Given the description of an element on the screen output the (x, y) to click on. 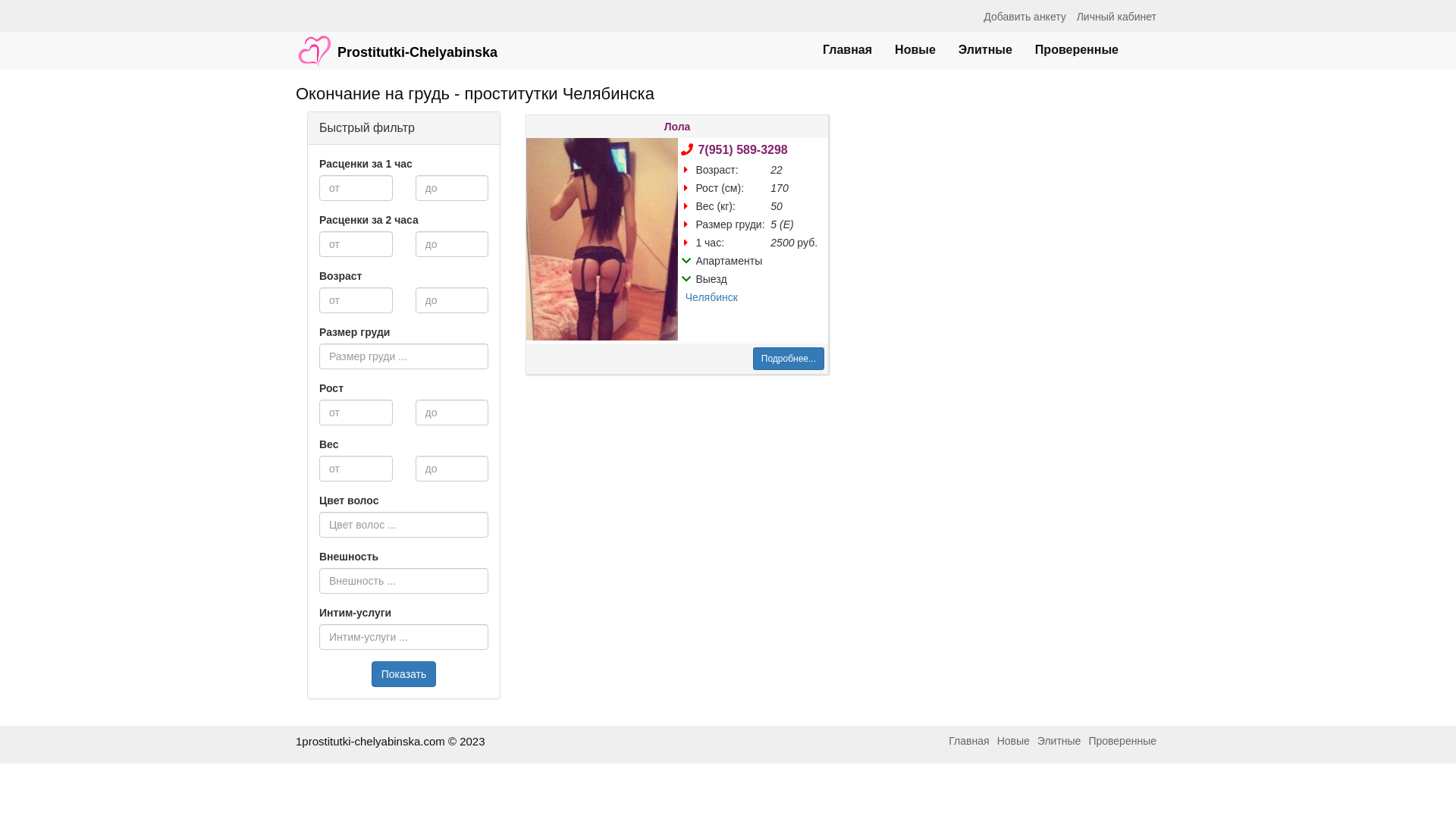
Prostitutki-Chelyabinska Element type: text (396, 43)
